Given the description of an element on the screen output the (x, y) to click on. 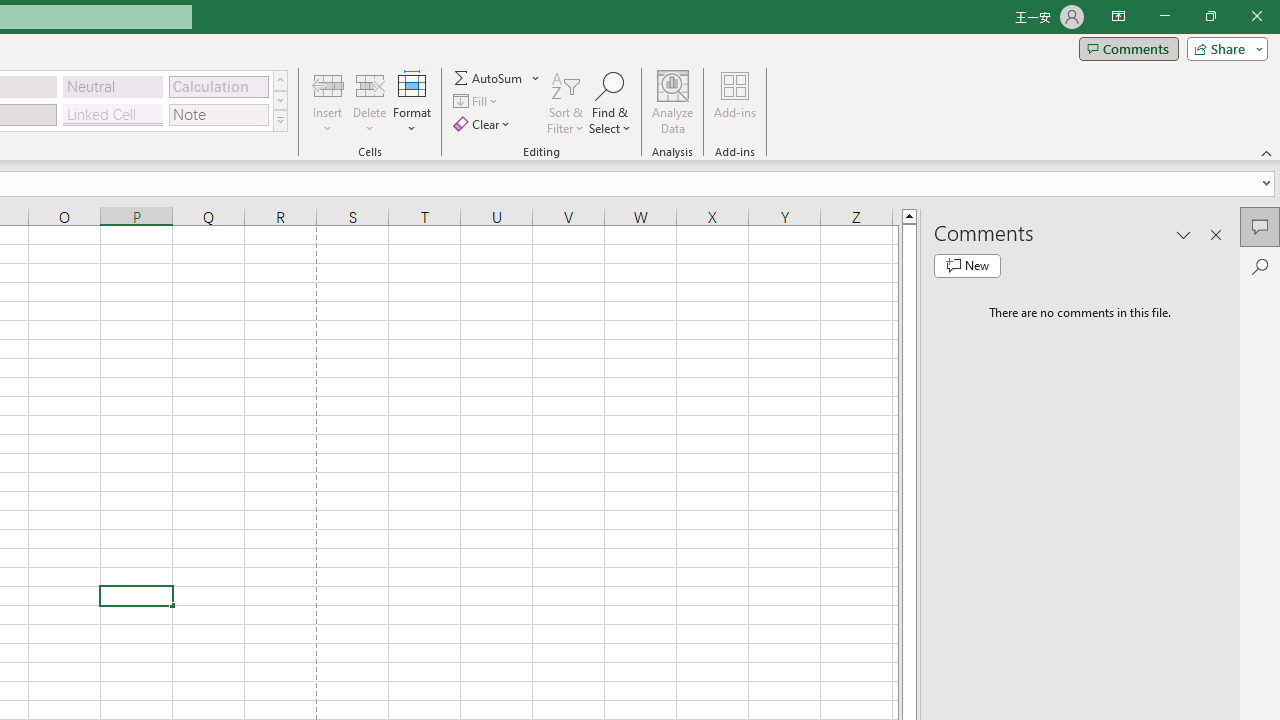
Line up (909, 215)
Minimize (1164, 16)
Row up (280, 79)
Linked Cell (113, 114)
Delete Cells... (369, 84)
More Options (536, 78)
Collapse the Ribbon (1267, 152)
Comments (1260, 226)
Cell Styles (280, 120)
New comment (967, 265)
Calculation (218, 86)
Clear (483, 124)
Insert (328, 102)
Close pane (1215, 234)
